Given the description of an element on the screen output the (x, y) to click on. 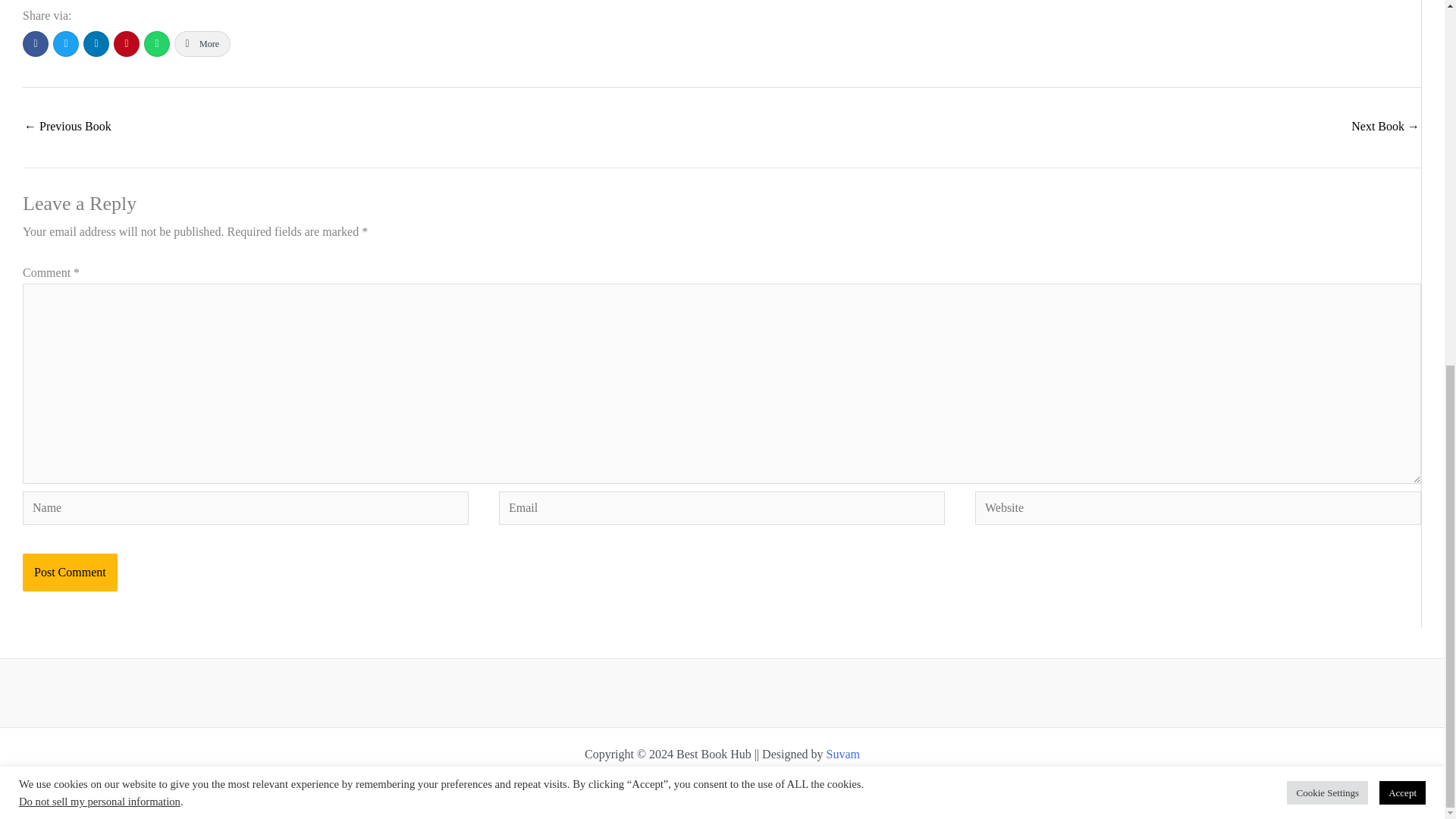
Lying (68, 127)
Privacy Policy (686, 784)
More (202, 43)
Letter to a Christian Nation (1385, 127)
Suvam (843, 753)
Accept (1401, 137)
Affiliate Disclosure (778, 784)
Blog (629, 784)
Do not sell my personal information (99, 146)
Cookie Settings (1327, 137)
